Given the description of an element on the screen output the (x, y) to click on. 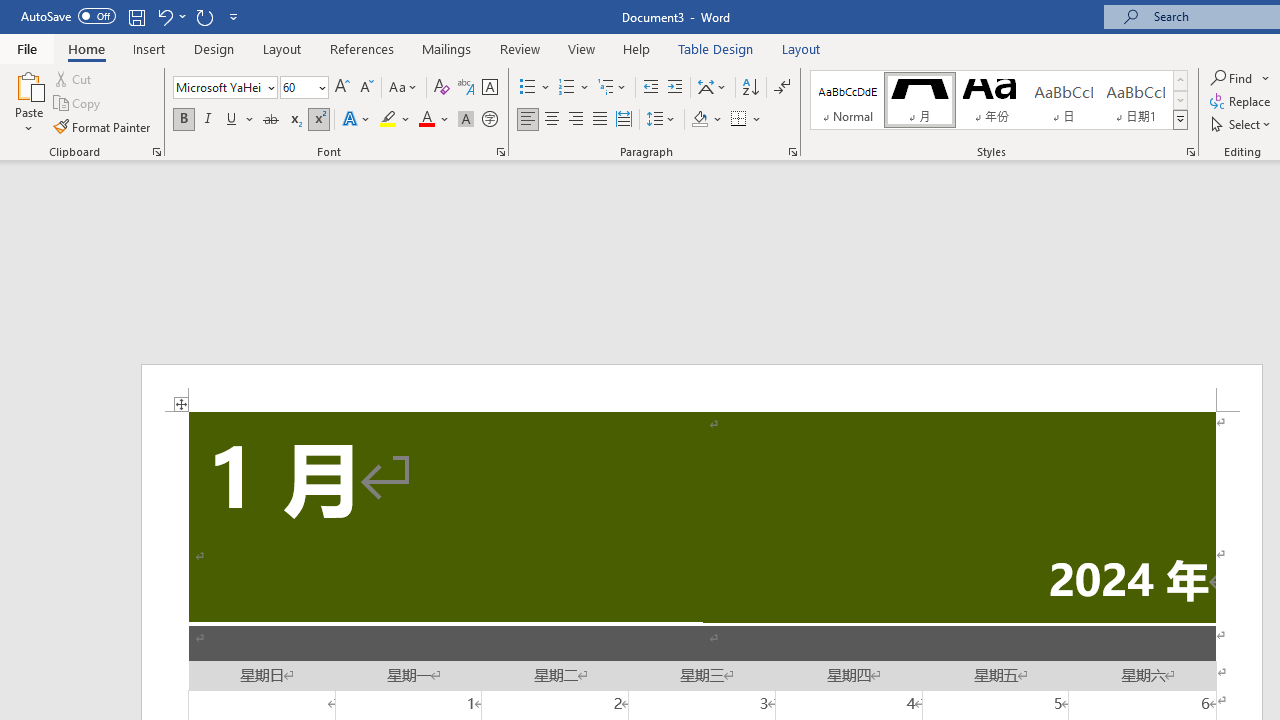
AutoSave (68, 16)
View (582, 48)
Underline (232, 119)
Styles... (1190, 151)
Align Left (527, 119)
Character Shading (465, 119)
Cut (73, 78)
Borders (739, 119)
Class: NetUIImage (1181, 119)
Copy (78, 103)
System (10, 11)
Justify (599, 119)
Save (136, 15)
Bold (183, 119)
